Given the description of an element on the screen output the (x, y) to click on. 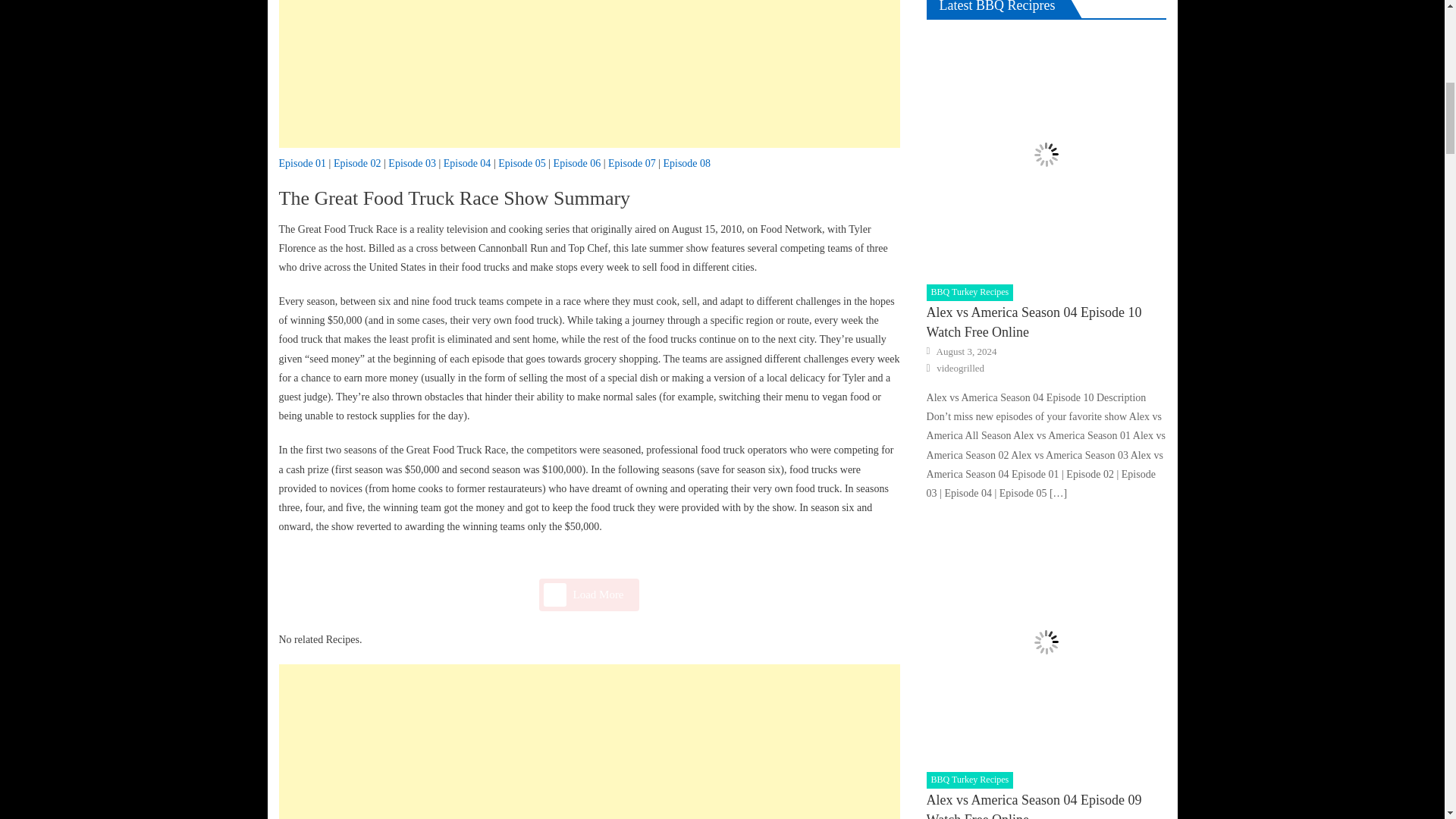
Alex vs America Season 04 Episode 09 Watch Free Online (1046, 642)
Advertisement (589, 741)
Alex vs America Season 04 Episode 10 Watch Free Online (1046, 154)
Advertisement (589, 74)
